Given the description of an element on the screen output the (x, y) to click on. 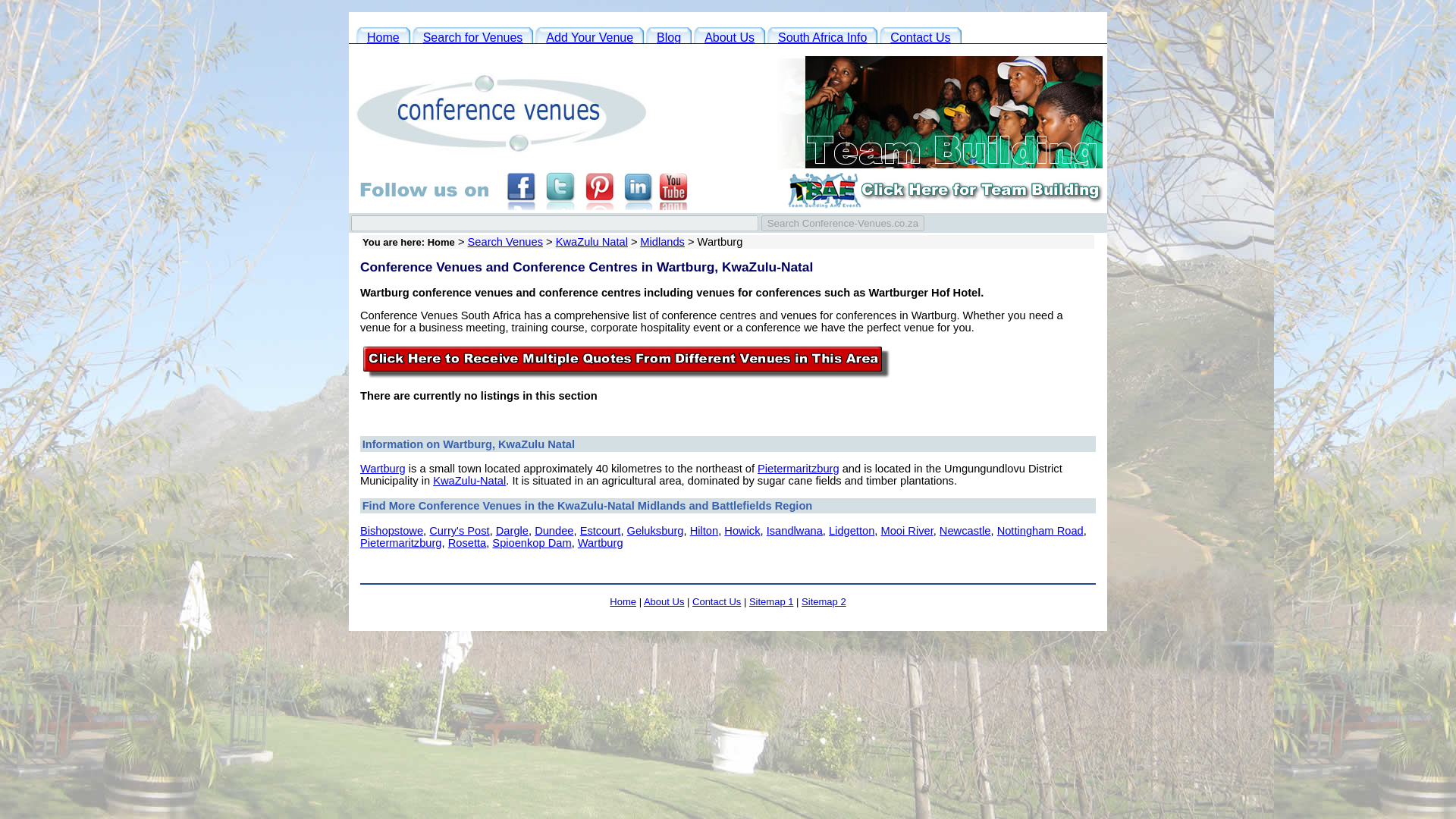
Home (623, 601)
About Us (729, 36)
Search Venues (505, 241)
Pietermaritzburg (400, 542)
Search Conference Venues (473, 36)
Pietermaritzburg (798, 468)
Contact Us (919, 36)
Nottingham Road (1040, 530)
Blog (668, 36)
Search for Venues (473, 36)
Contact Us (717, 601)
Mooi River (906, 530)
Lidgetton (851, 530)
South Africa Info (822, 36)
Sitemap 1 (771, 601)
